Given the description of an element on the screen output the (x, y) to click on. 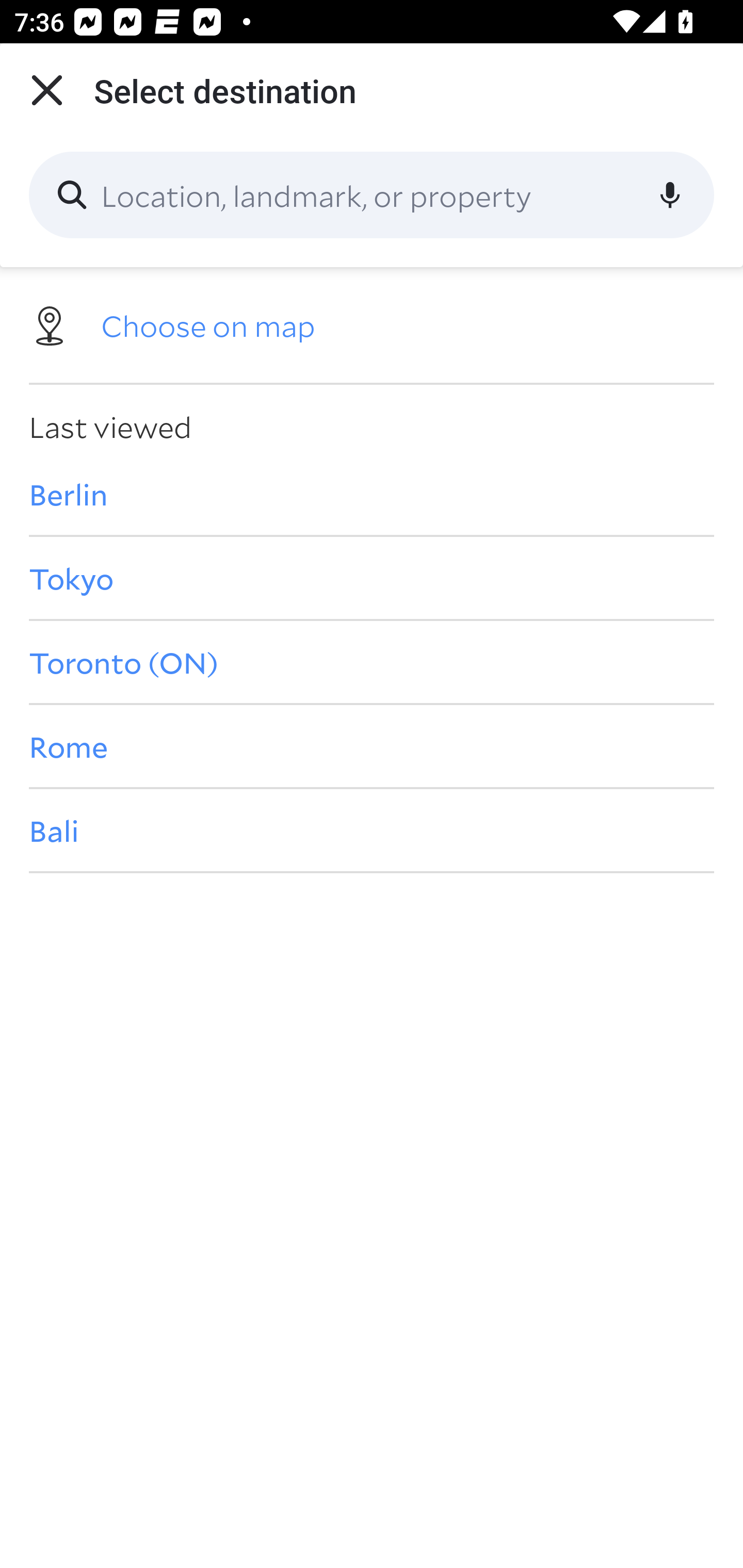
Location, landmark, or property (371, 195)
Choose on map (371, 324)
Berlin (371, 493)
Tokyo (371, 577)
Toronto (ON) (371, 661)
Rome (371, 746)
Bali (371, 829)
